Given the description of an element on the screen output the (x, y) to click on. 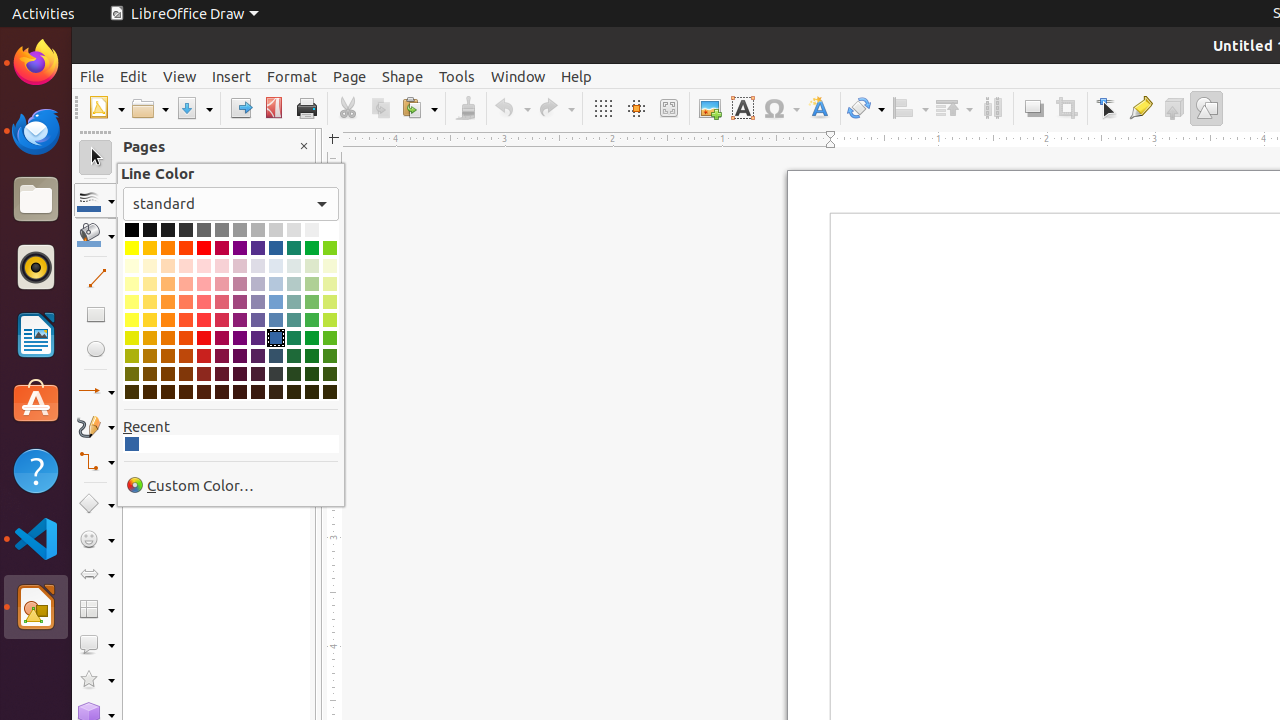
Light Magenta 1 Element type: list-item (222, 320)
Dark Indigo 2 Element type: list-item (258, 356)
Page Element type: menu (349, 76)
Dark Blue 1 Element type: list-item (132, 444)
Dark Yellow 4 Element type: list-item (132, 392)
